Given the description of an element on the screen output the (x, y) to click on. 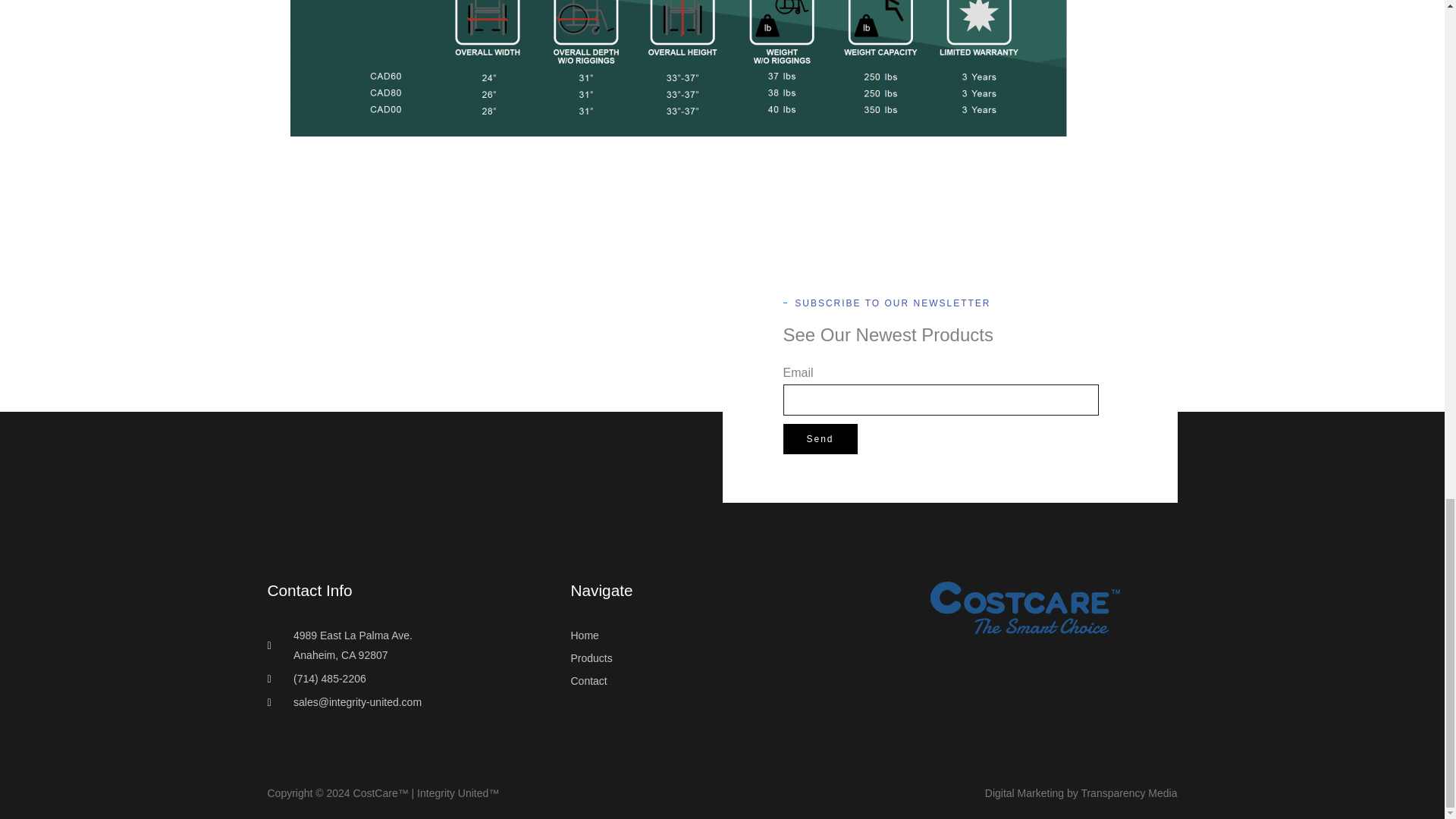
Contact (721, 681)
Products (721, 659)
Send (820, 439)
Digital Marketing by Transparency Media (1081, 793)
Home (721, 636)
Link is an email that may open your email client (418, 702)
Link opens Transparency Media website in a new window (1081, 793)
